Given the description of an element on the screen output the (x, y) to click on. 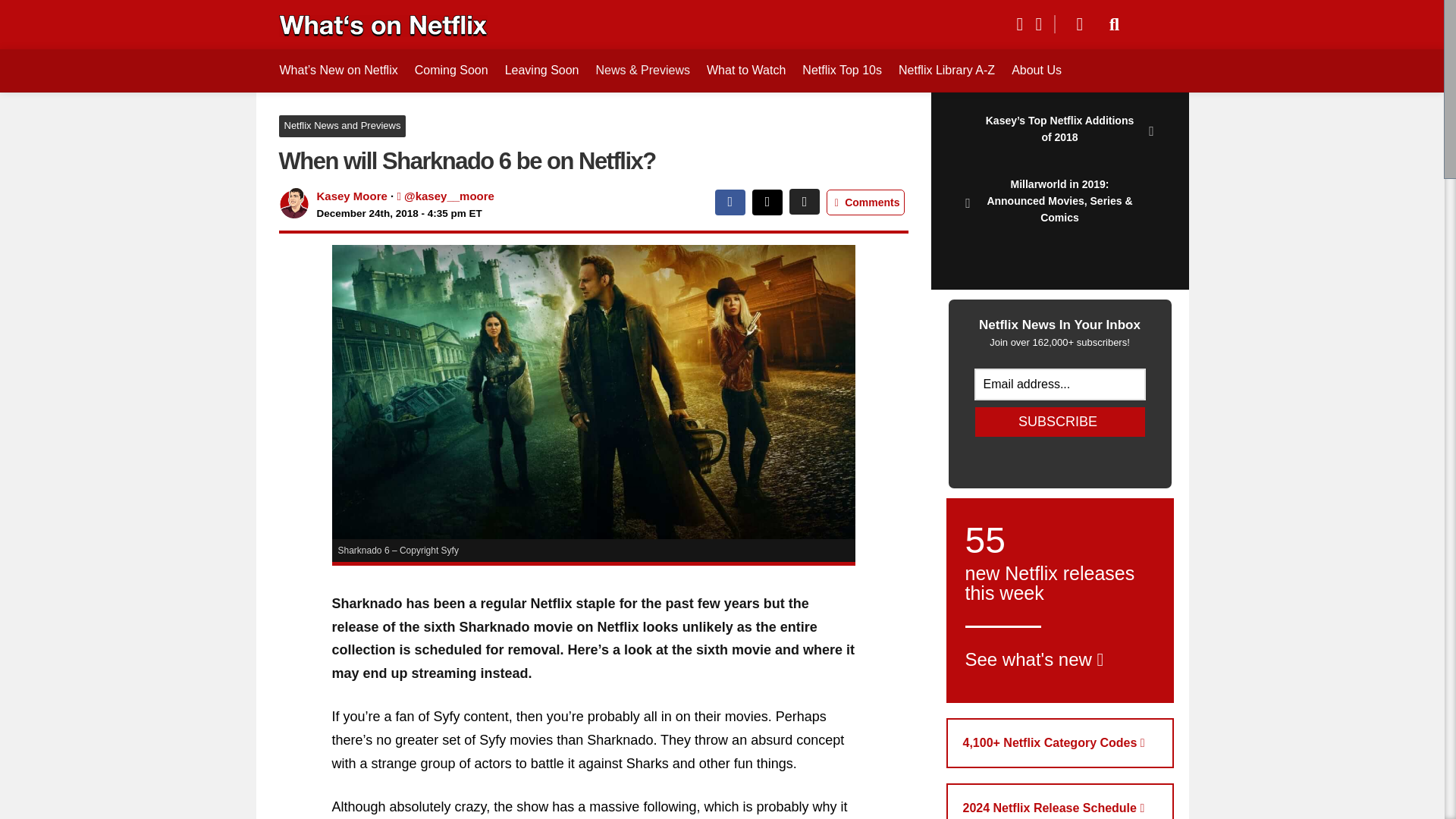
Take Action Now! (111, 14)
Comments (865, 202)
Netflix Top 10s (1059, 599)
Posts by Kasey Moore (842, 70)
Netflix News and Previews (352, 195)
Subscribe  (342, 126)
What to Watch (1059, 421)
Every Netflix Category Code (746, 70)
About Us (1059, 742)
2024 Netflix Release Schedule (1036, 70)
Sharknado 6 Netflix Release (1059, 800)
Leaving Soon (352, 195)
Coming Soon (541, 70)
